Given the description of an element on the screen output the (x, y) to click on. 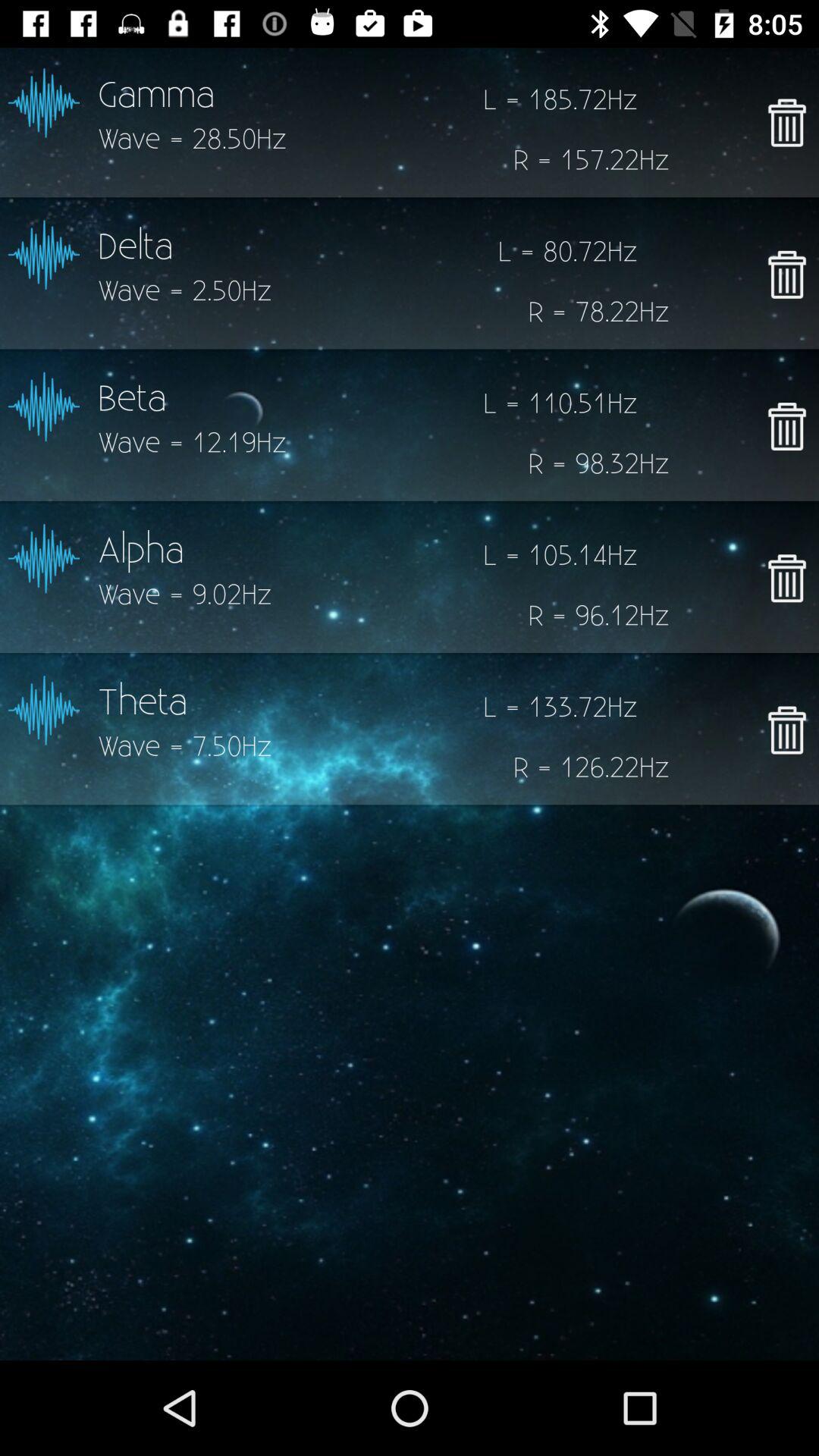
delete (787, 425)
